Given the description of an element on the screen output the (x, y) to click on. 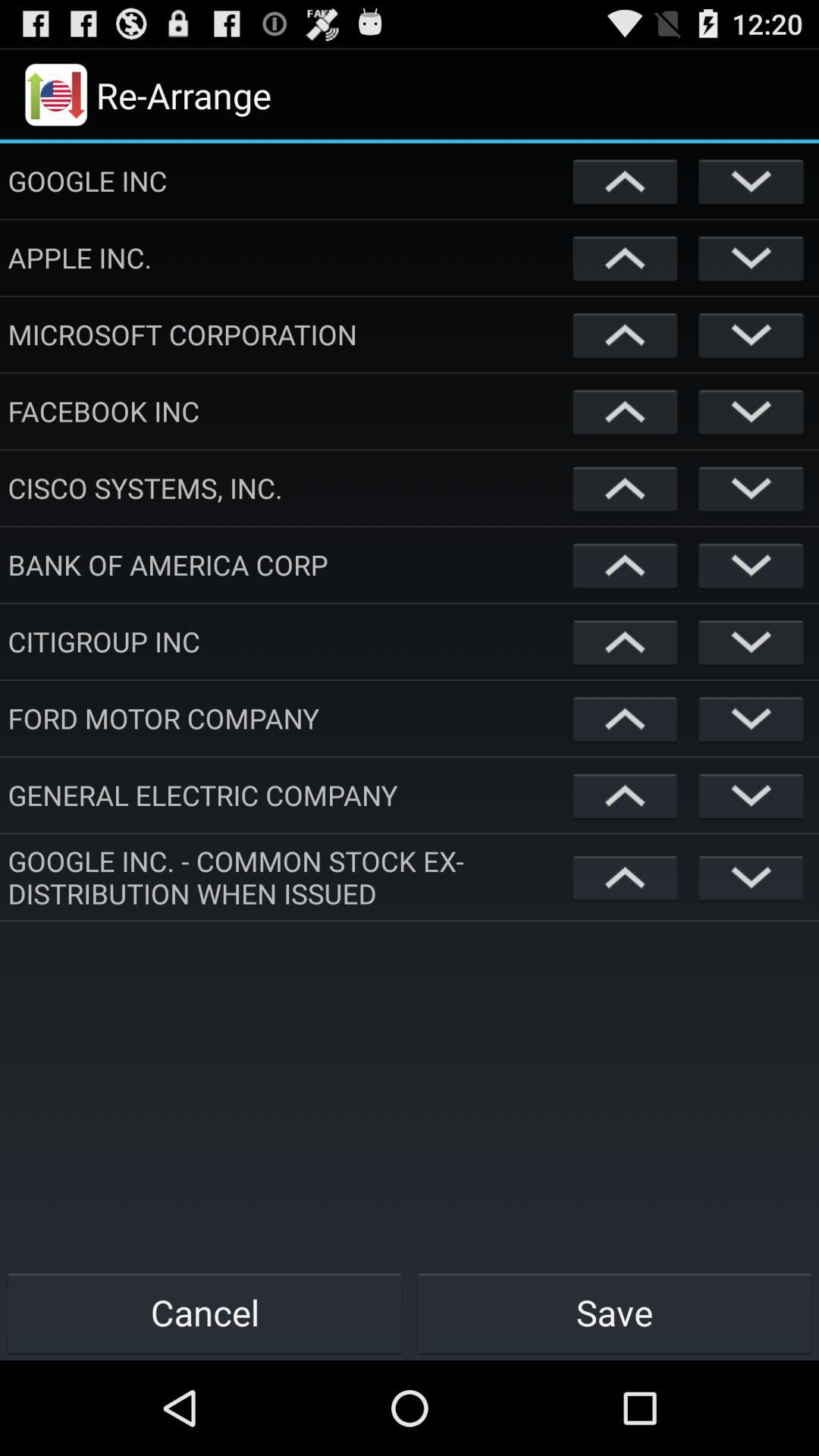
move the article one place higher (624, 877)
